Given the description of an element on the screen output the (x, y) to click on. 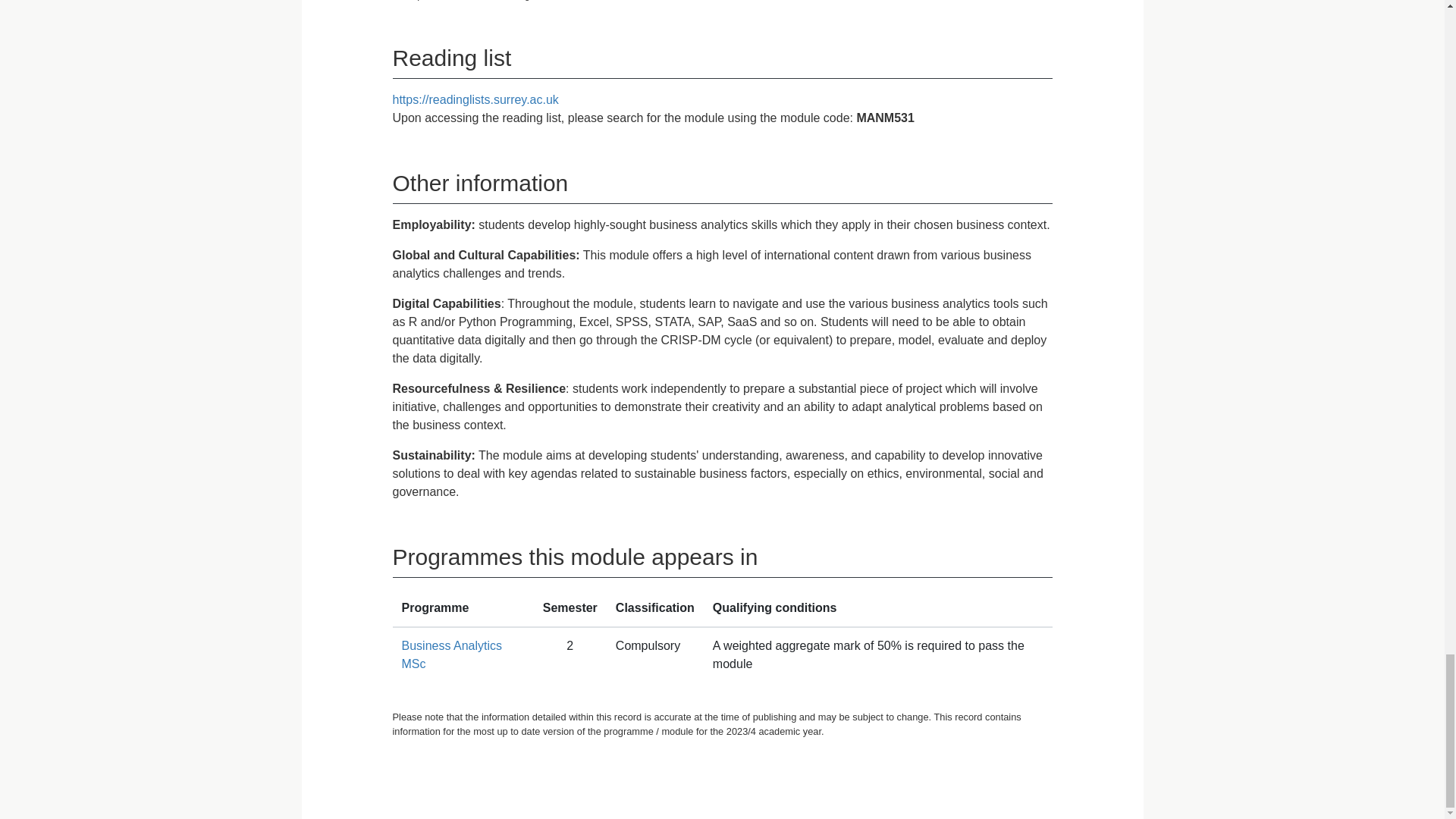
Business Analytics MSc (451, 654)
